Given the description of an element on the screen output the (x, y) to click on. 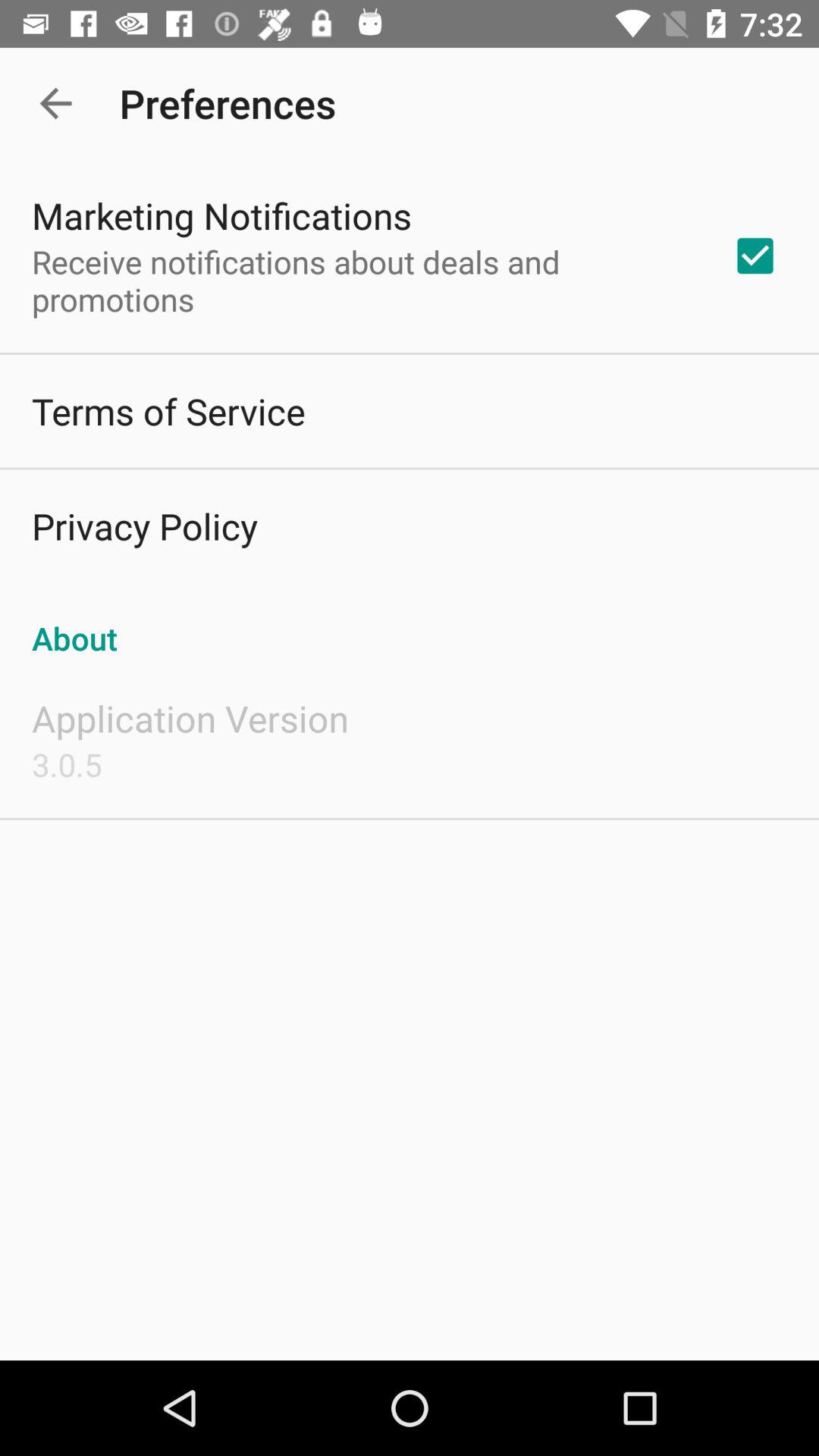
open icon below the terms of service app (144, 525)
